Given the description of an element on the screen output the (x, y) to click on. 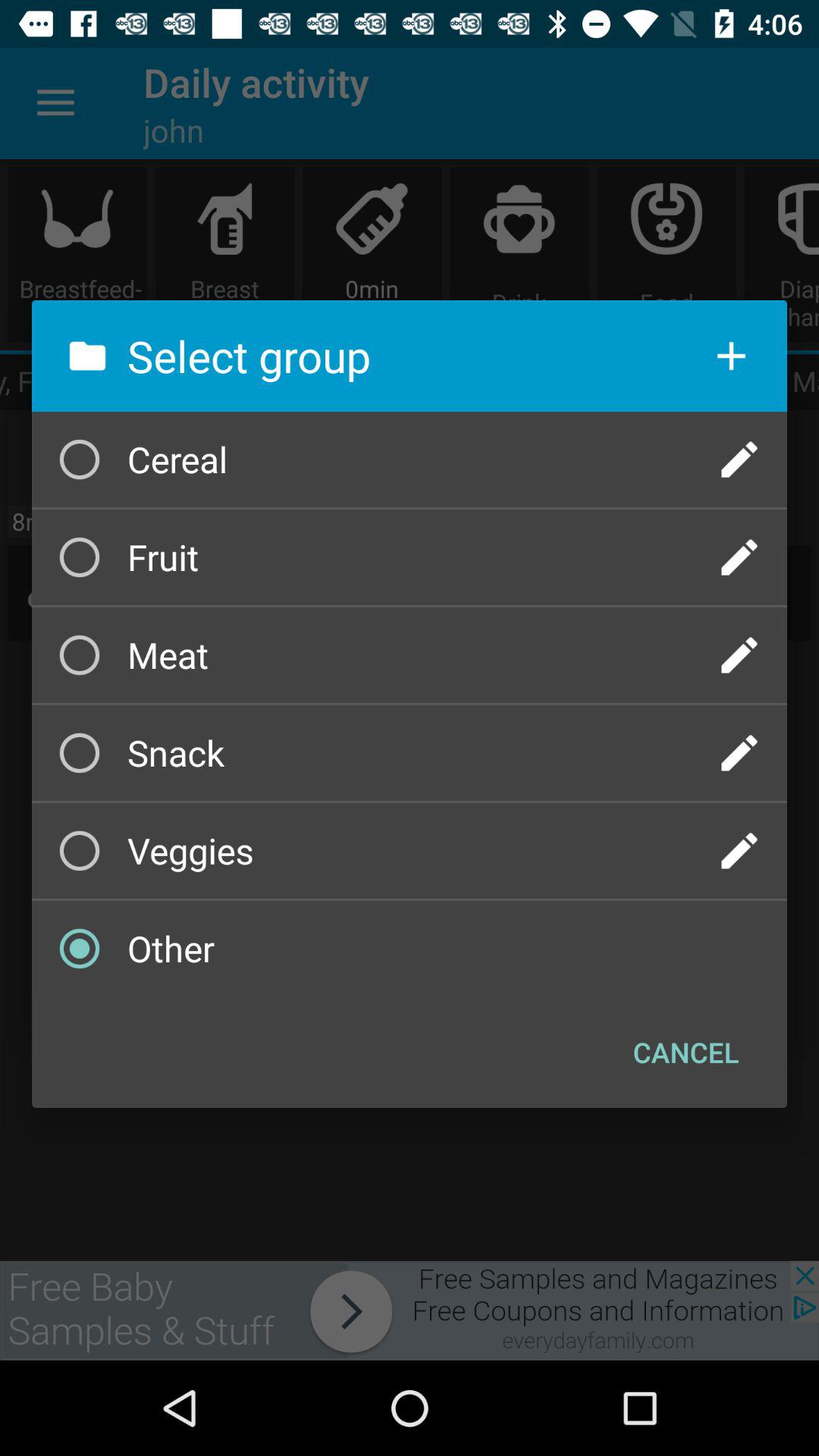
edit a group name (739, 557)
